Given the description of an element on the screen output the (x, y) to click on. 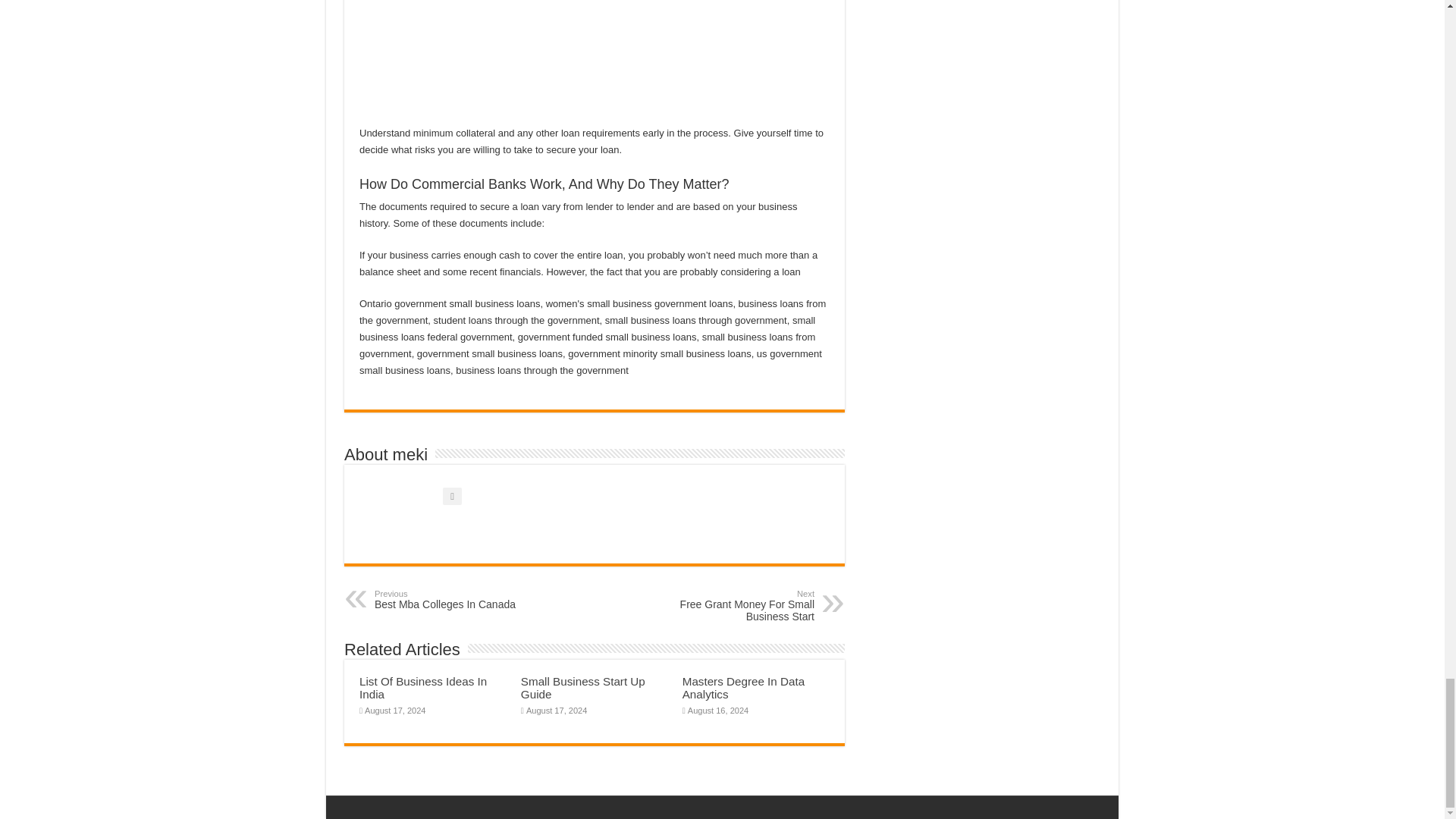
Small Business Start Up Guide (583, 687)
List Of Business Ideas In India (451, 599)
Masters Degree In Data Analytics (422, 687)
